Given the description of an element on the screen output the (x, y) to click on. 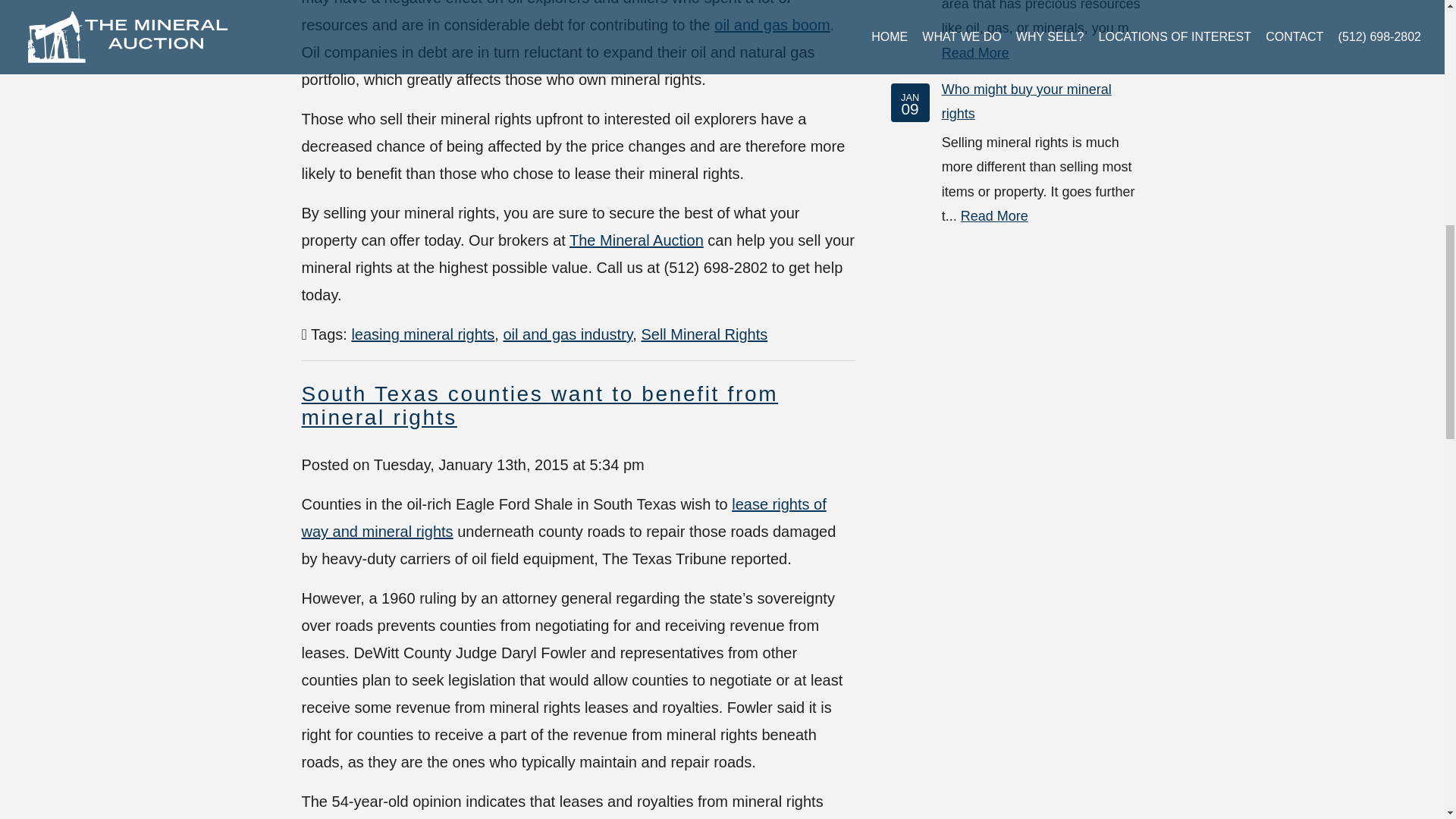
oil and gas boom (771, 24)
Read More (993, 215)
Read More (975, 52)
Who might buy your mineral rights (1027, 101)
South Texas counties want to benefit from mineral rights (539, 405)
Sell Mineral Rights (703, 334)
lease rights of way and mineral rights (564, 517)
oil and gas industry (566, 334)
leasing mineral rights (422, 334)
The Mineral Auction (636, 239)
